Given the description of an element on the screen output the (x, y) to click on. 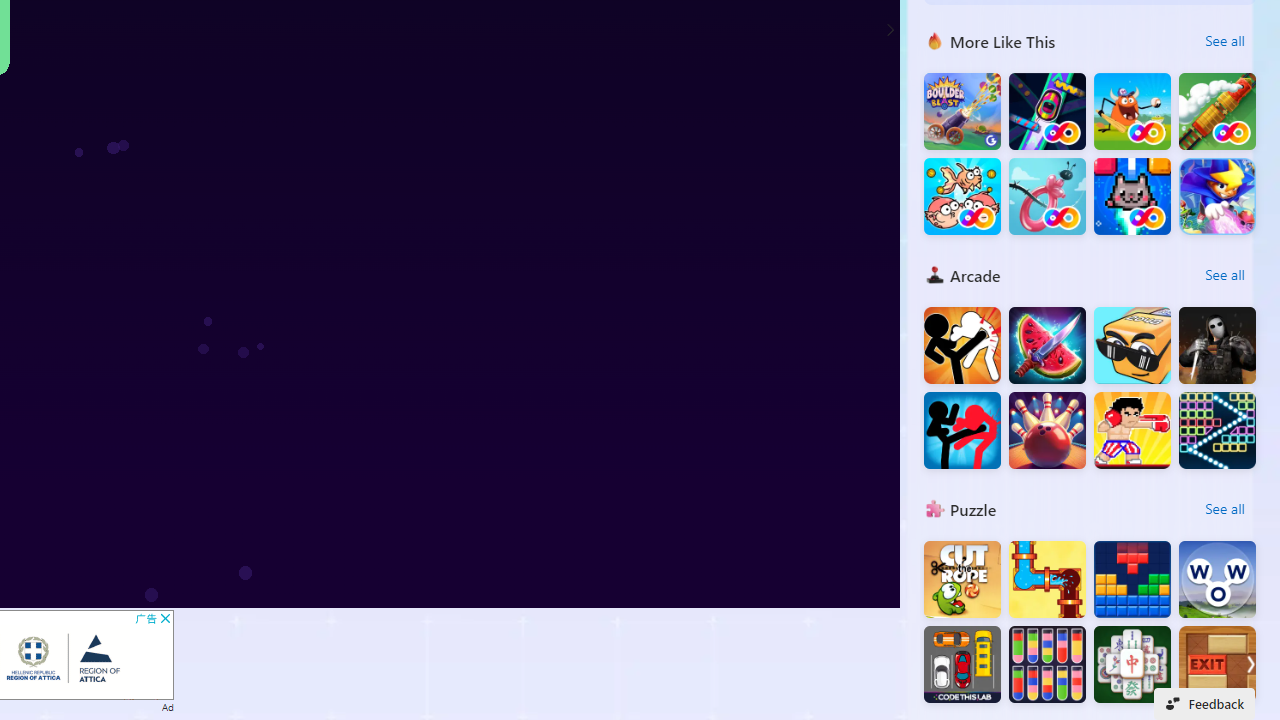
Monster Bash FRVR (1132, 111)
See all (1224, 508)
Class: control (889, 29)
Fruit Chopper (1047, 345)
Parking Block (962, 664)
Boxing fighter : Super punch (1132, 430)
Boulder Blast (962, 111)
AutomationID: cbb (164, 618)
Hunter Hitman (1217, 345)
Bricks Breaker Deluxe Crusher (1217, 430)
Stickman Fighter : Mega Brawl (962, 345)
Balloon FRVR (1047, 196)
Fish Merge FRVR (962, 196)
More Like This (934, 40)
